Given the description of an element on the screen output the (x, y) to click on. 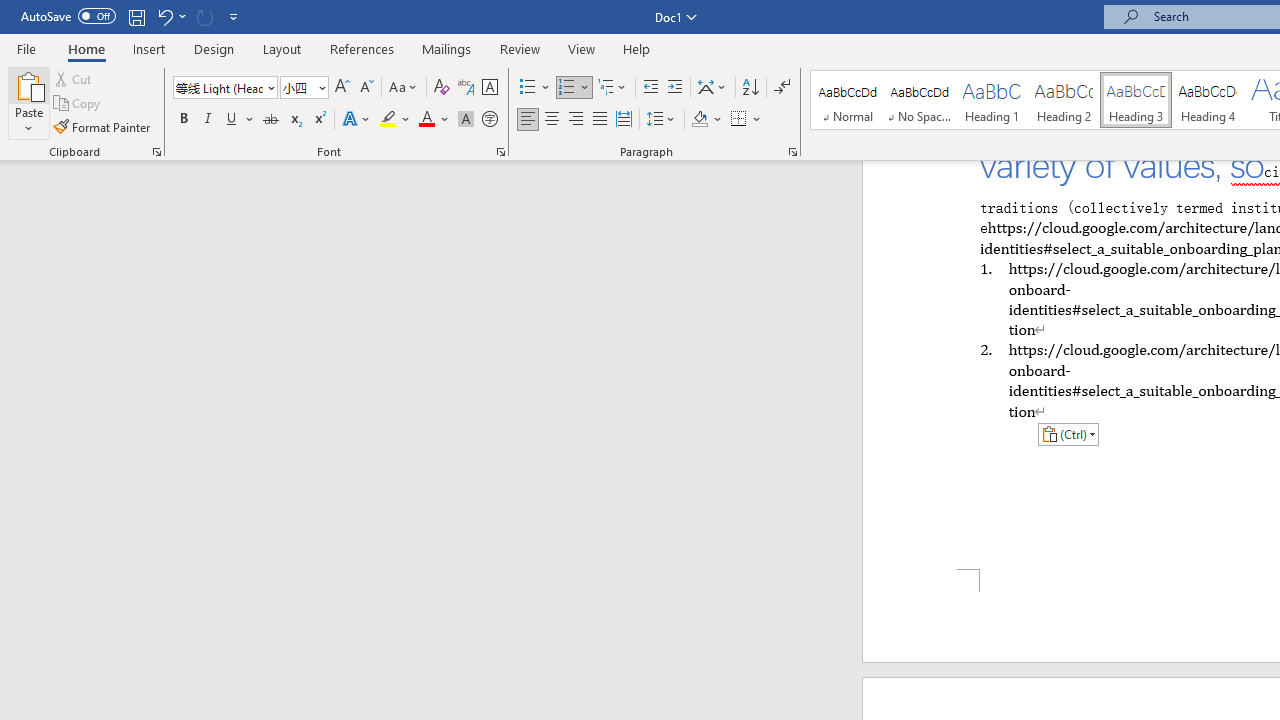
Enclose Characters... (489, 119)
Subscript (294, 119)
Align Right (575, 119)
Heading 2 (1063, 100)
Distributed (623, 119)
Heading 3 (1135, 100)
